Given the description of an element on the screen output the (x, y) to click on. 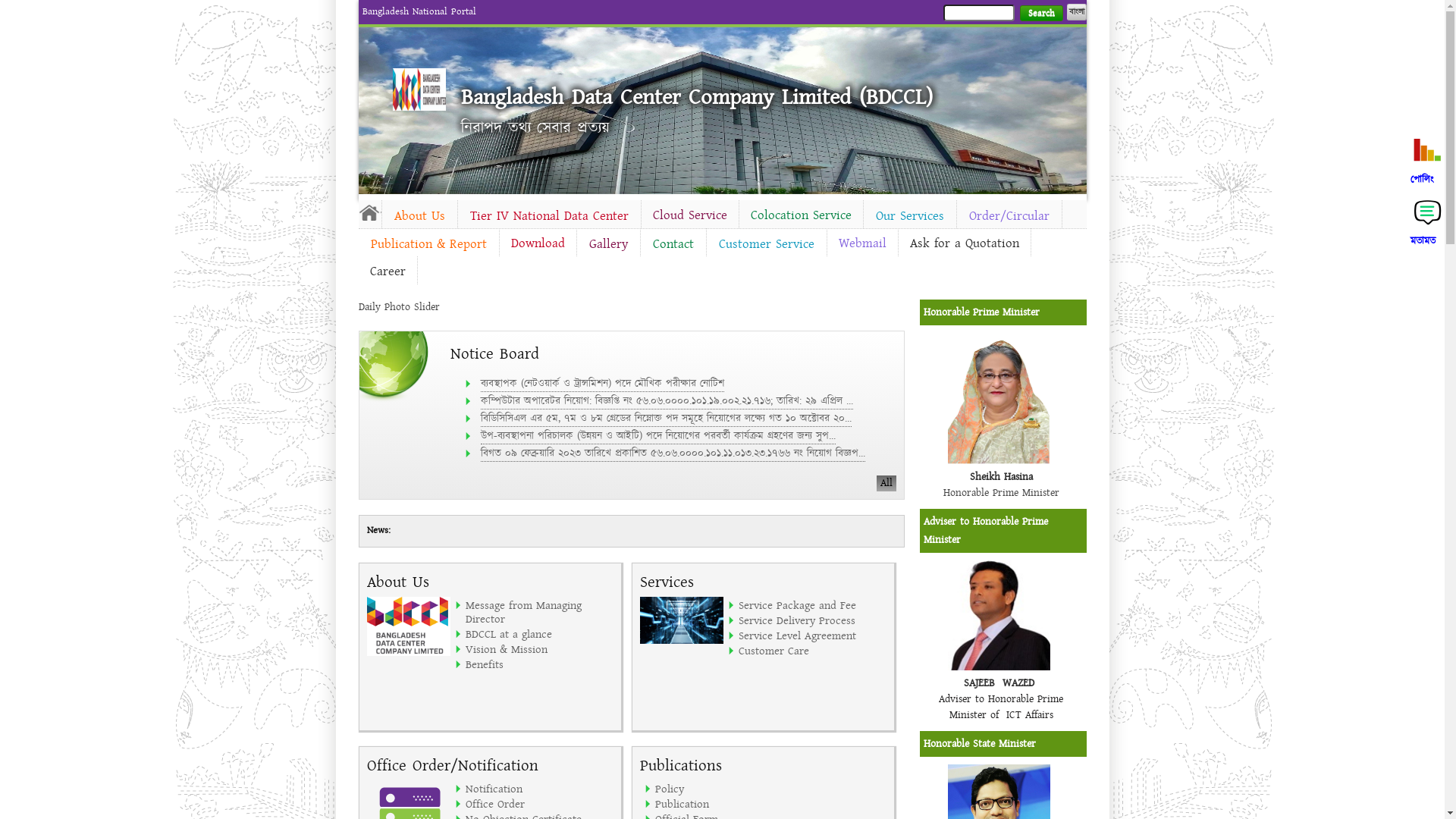
Career Element type: text (386, 271)
Notification Element type: text (539, 788)
Webmail Element type: text (861, 243)
Download Element type: text (536, 243)
Bangladesh National Portal Element type: text (419, 11)
All Element type: text (886, 483)
Service Level Agreement Element type: text (812, 635)
Search Element type: text (1040, 13)
Service Delivery Process Element type: text (812, 620)
Policy Element type: text (729, 788)
Benefits Element type: text (539, 664)
Customer Service Element type: text (766, 244)
Message from Managing Director Element type: text (539, 611)
About Us Element type: text (419, 216)
Order/Circular Element type: text (1009, 216)
Service Package and Fee Element type: text (812, 604)
Bangladesh Data Center Company Limited (BDCCL) Element type: text (696, 96)
BDCCL at a glance Element type: text (539, 633)
Office Order Element type: text (539, 803)
Home Element type: hover (418, 89)
Tier IV National Data Center Element type: text (549, 216)
Ask for a Quotation Element type: text (963, 243)
Vision & Mission Element type: text (539, 648)
Contact Element type: text (672, 244)
Home Element type: hover (368, 211)
Cloud Service Element type: text (689, 215)
Colocation Service Element type: text (800, 215)
Publication Element type: text (729, 803)
Gallery Element type: text (607, 244)
Our Services Element type: text (908, 216)
Customer Care Element type: text (812, 650)
Publication & Report Element type: text (427, 244)
